Given the description of an element on the screen output the (x, y) to click on. 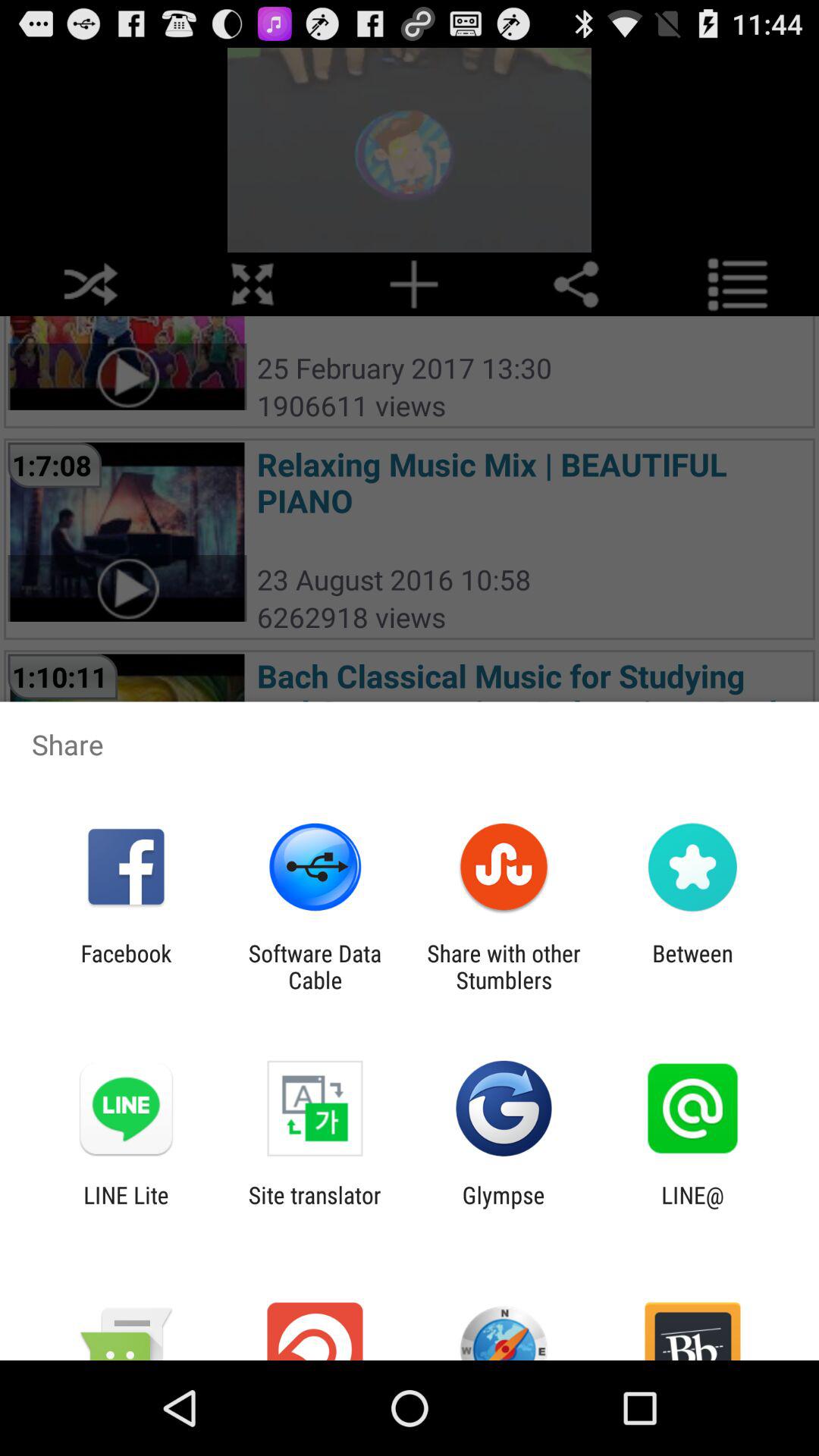
press facebook item (125, 966)
